Given the description of an element on the screen output the (x, y) to click on. 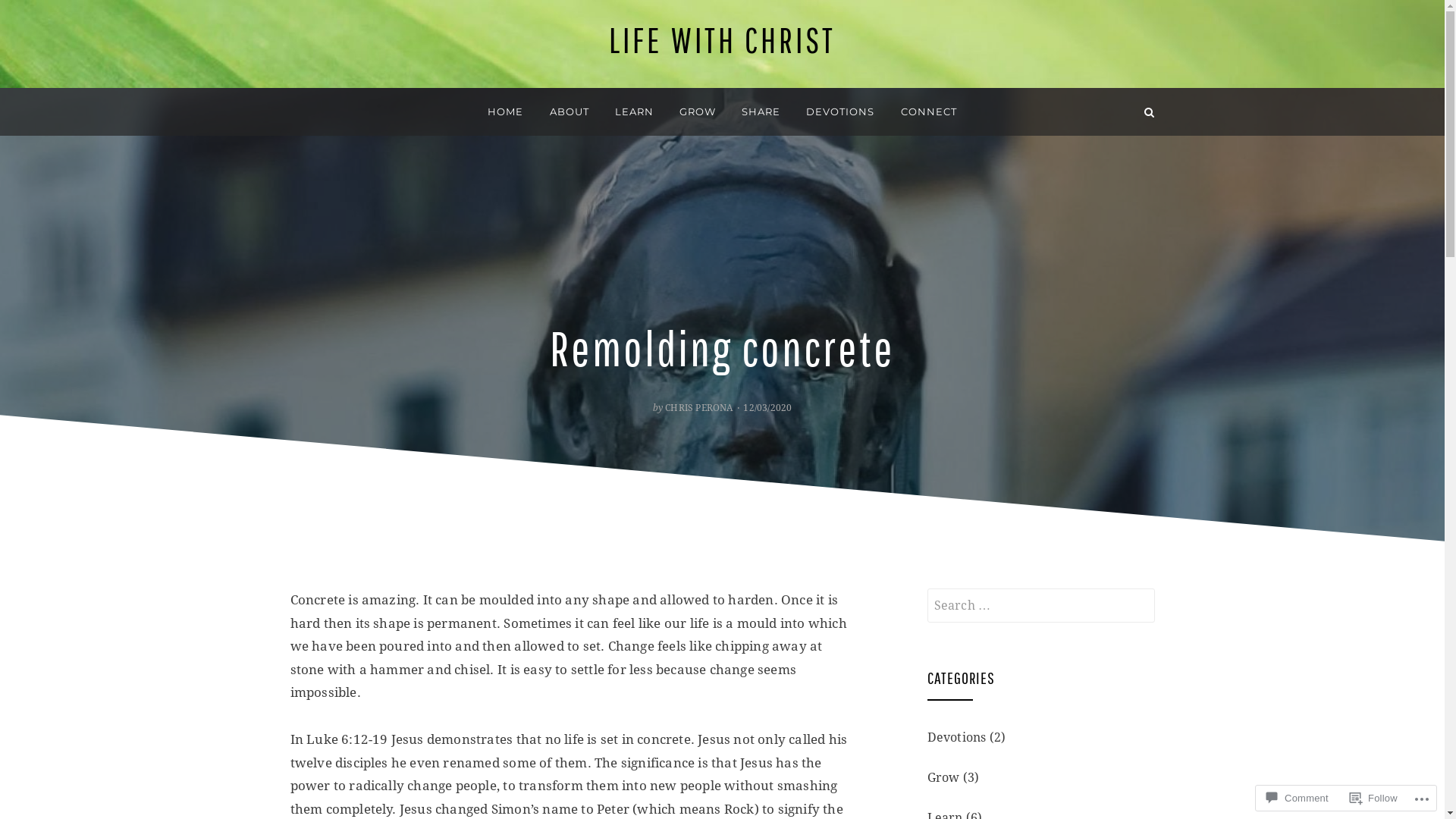
Comment Element type: text (1297, 797)
HOME Element type: text (505, 111)
LIFE WITH CHRIST Element type: text (721, 39)
Search Element type: text (51, 18)
LEARN Element type: text (634, 111)
GROW Element type: text (697, 111)
Search Element type: hover (1148, 111)
Follow Element type: text (1373, 797)
SHARE Element type: text (760, 111)
12/03/2020 Element type: text (765, 407)
DEVOTIONS Element type: text (839, 111)
Devotions Element type: text (955, 737)
CHRIS PERONA Element type: text (698, 407)
CONNECT Element type: text (928, 111)
ABOUT Element type: text (569, 111)
Grow Element type: text (942, 777)
